Given the description of an element on the screen output the (x, y) to click on. 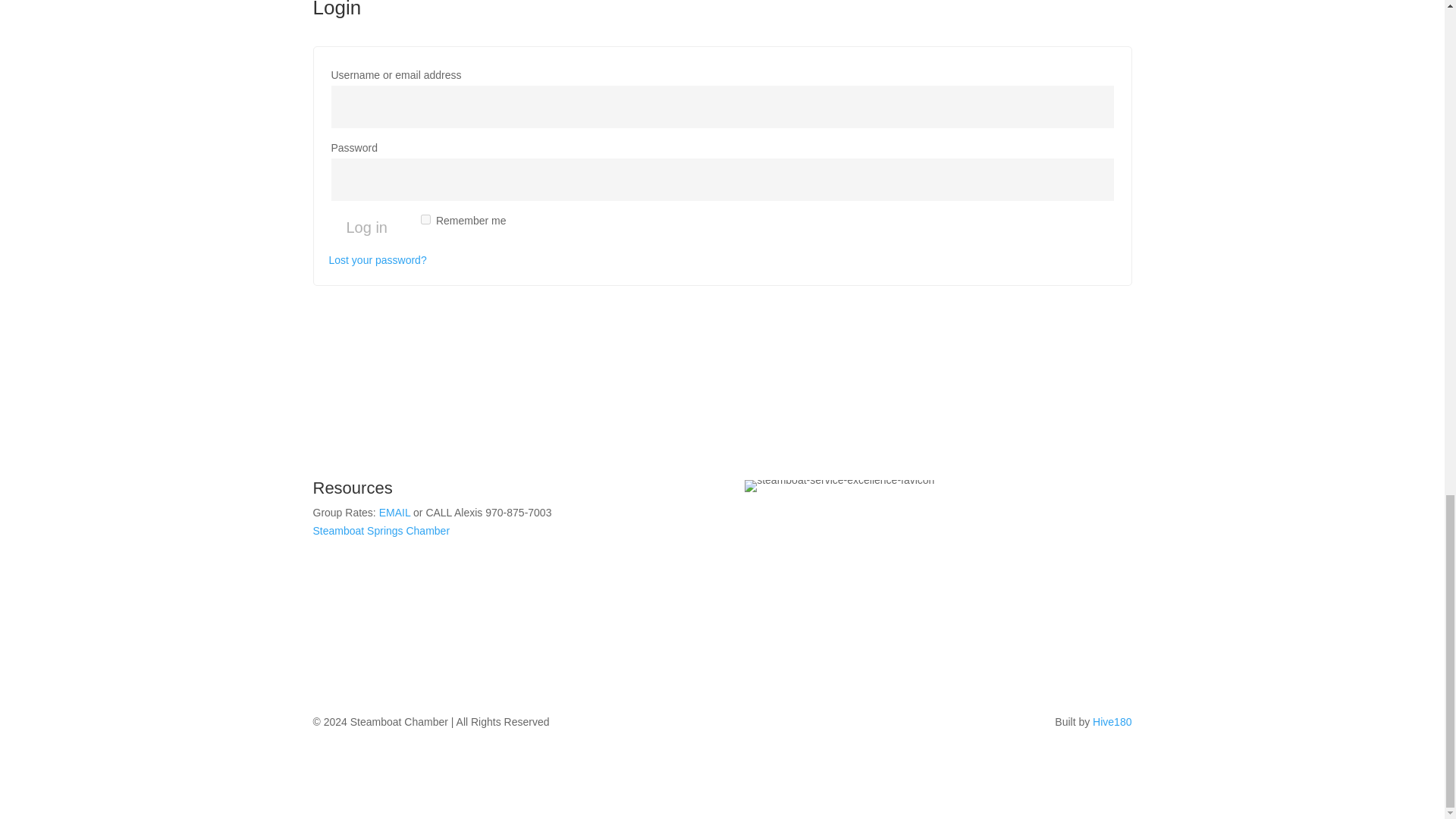
EMAIL (394, 512)
forever (425, 219)
Log in (366, 226)
Lost your password? (377, 259)
Hive180 (1112, 721)
Steamboat Springs Chamber (381, 530)
